Given the description of an element on the screen output the (x, y) to click on. 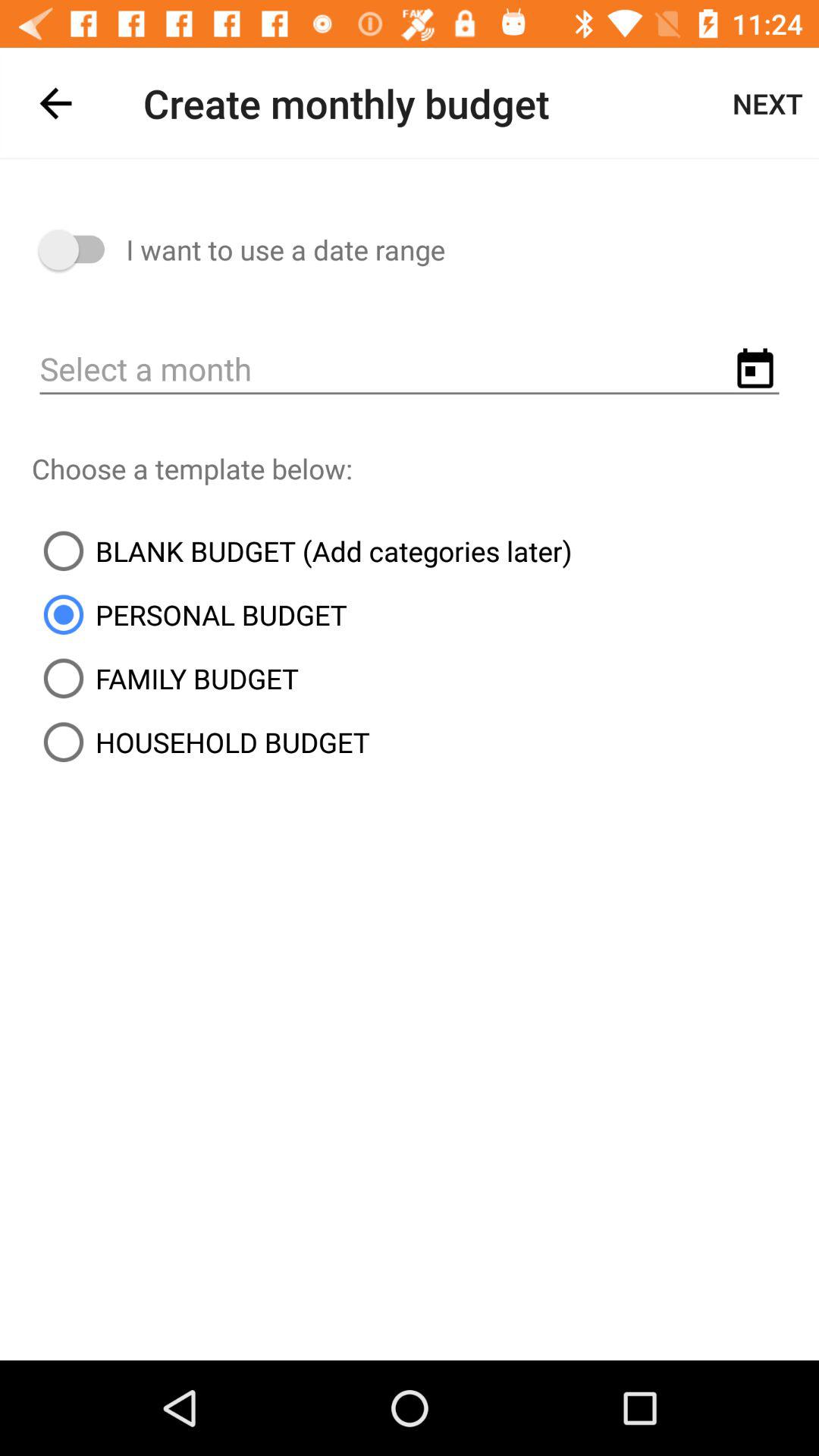
click item above the personal budget icon (301, 550)
